Given the description of an element on the screen output the (x, y) to click on. 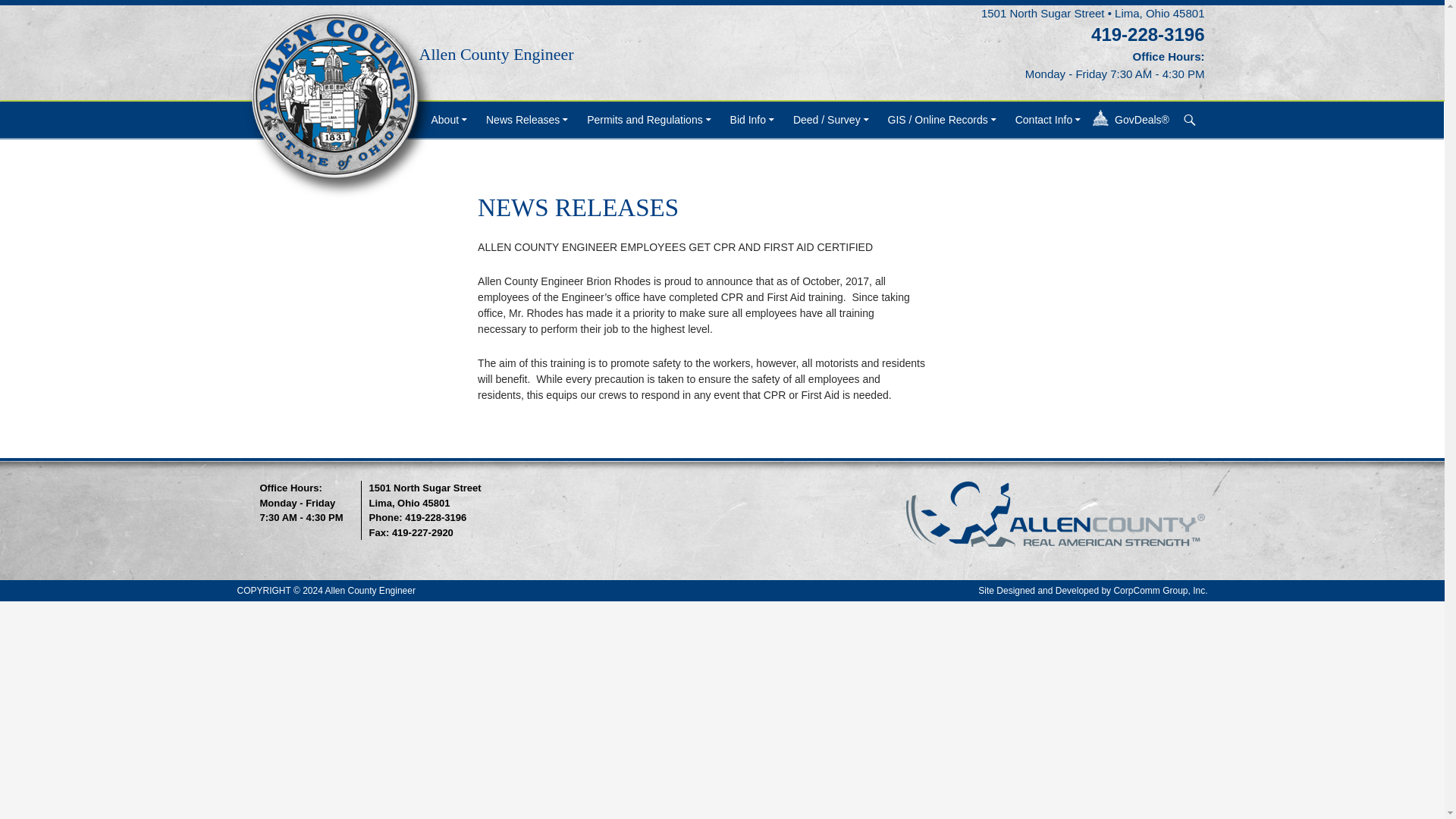
Permits and Regulations (649, 119)
About (451, 119)
419-228-3196 (1147, 34)
Bid Info (753, 119)
News Releases (527, 119)
Contact Info (1049, 119)
